Given the description of an element on the screen output the (x, y) to click on. 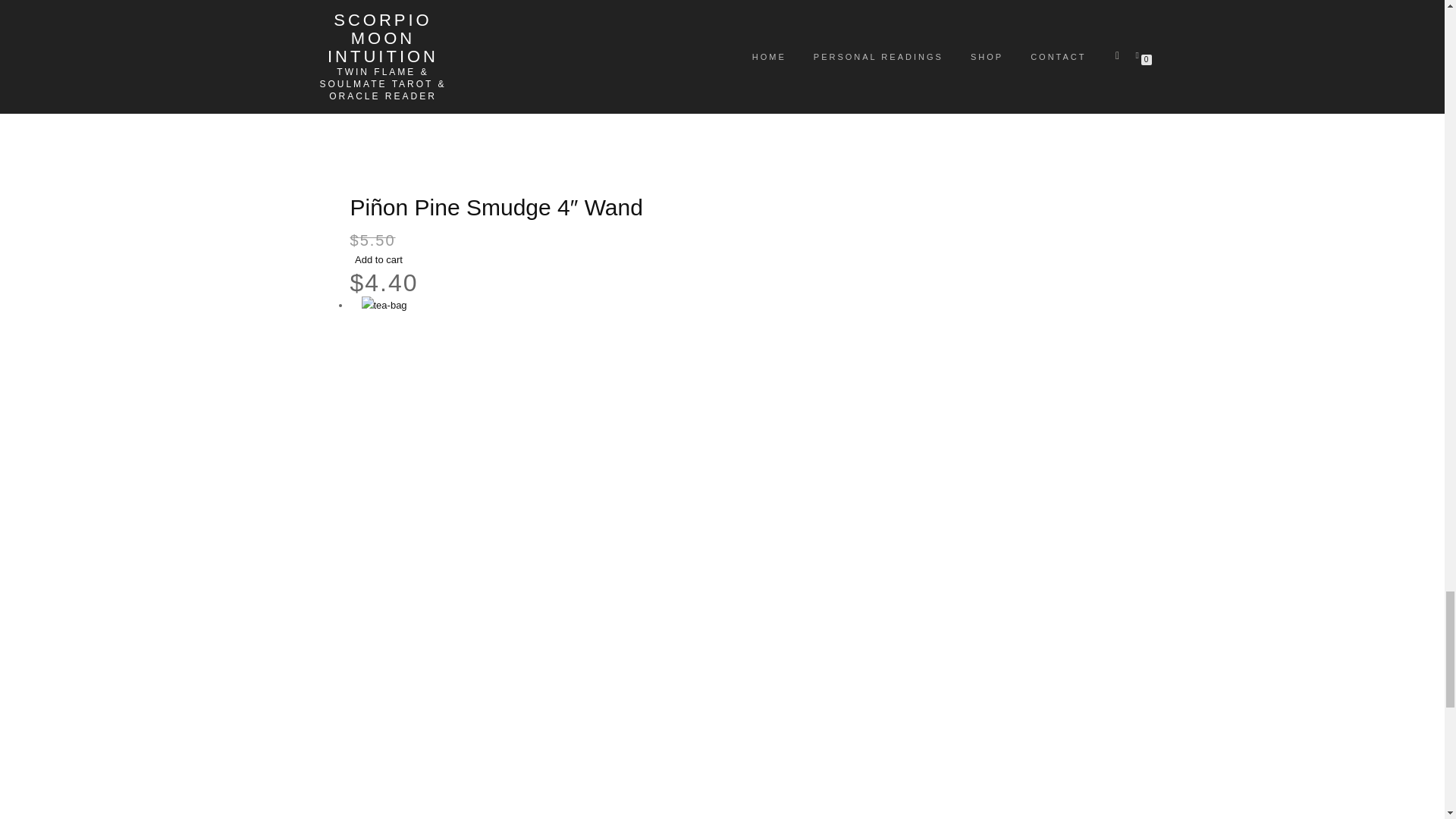
Add to cart (379, 259)
